Given the description of an element on the screen output the (x, y) to click on. 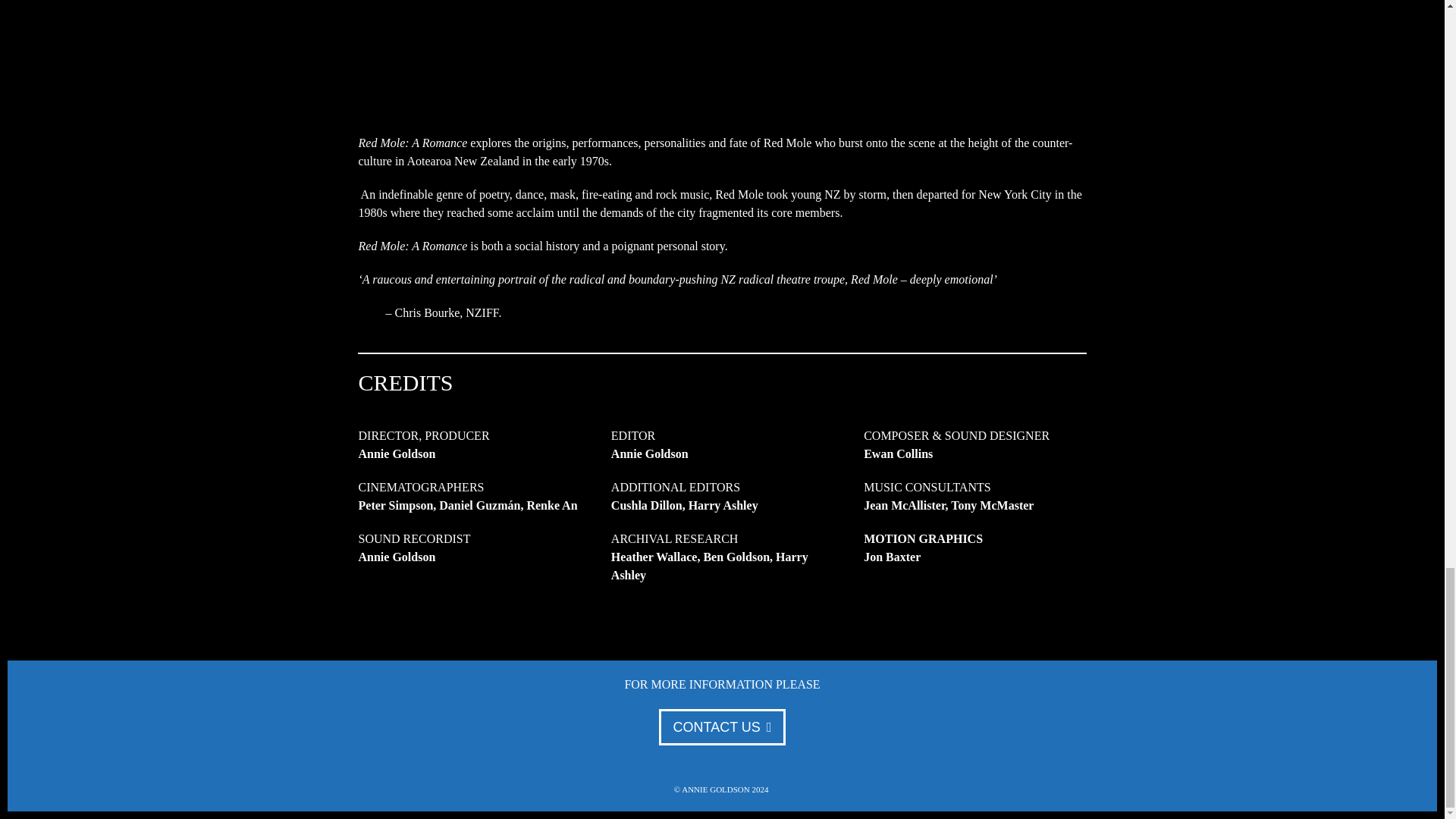
CONTACT US (722, 727)
